Given the description of an element on the screen output the (x, y) to click on. 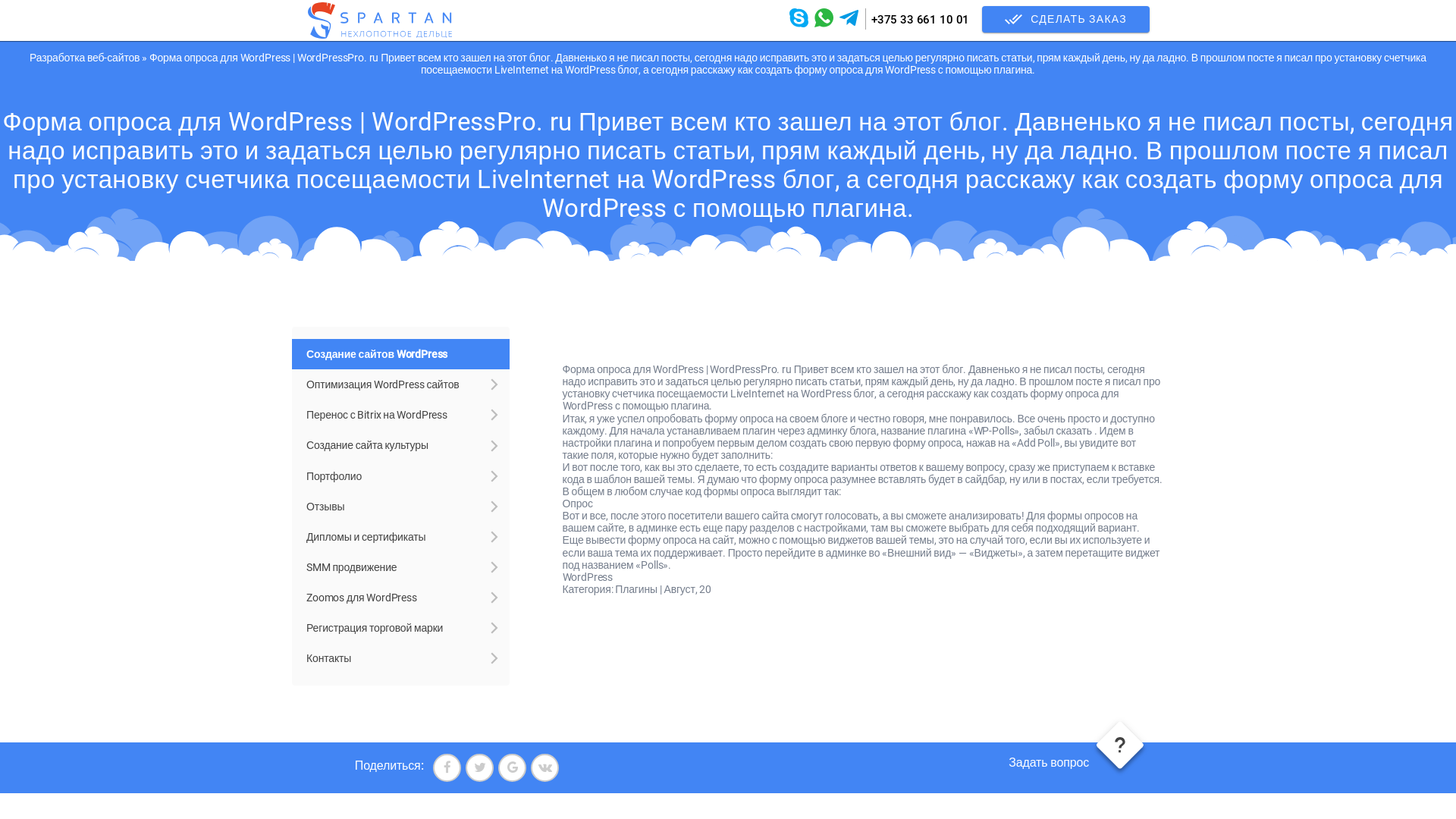
+375 33 661 10 01 Element type: text (920, 19)
